Given the description of an element on the screen output the (x, y) to click on. 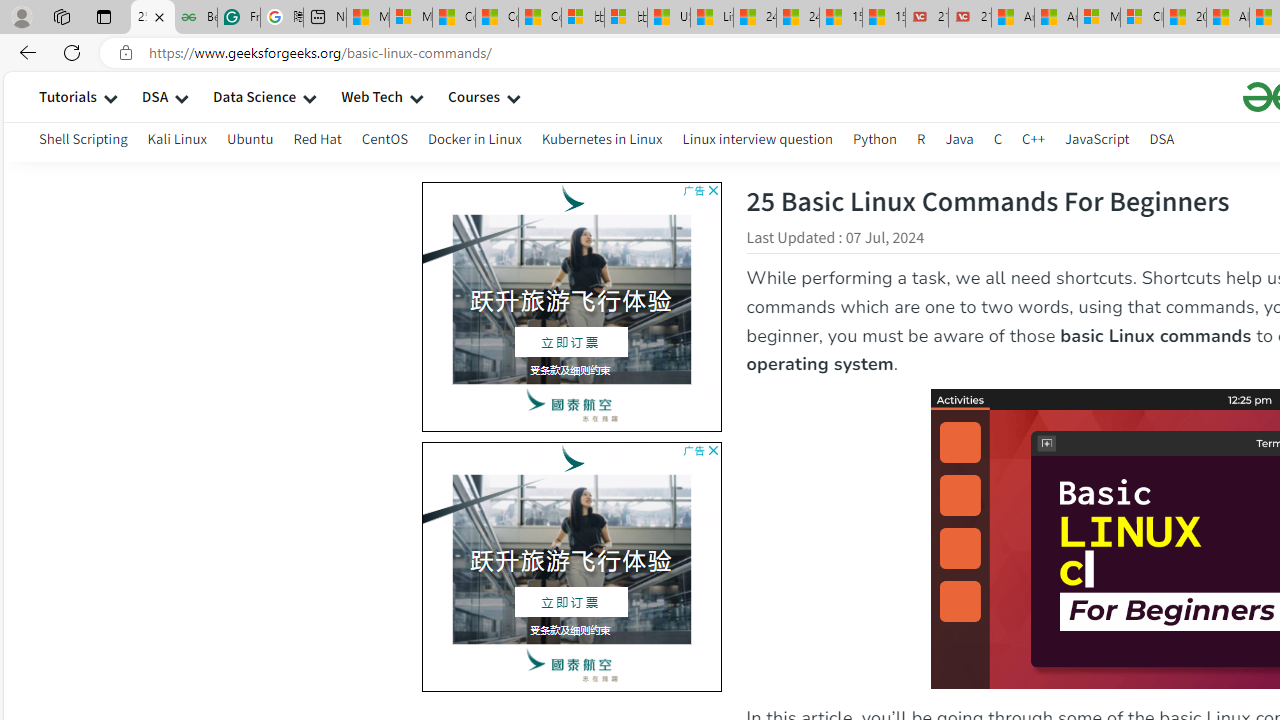
Java (959, 142)
R (921, 138)
CentOS (384, 142)
AutomationID: wheel (417, 440)
Kali Linux (176, 138)
C (997, 142)
Python (874, 138)
DSA (1162, 138)
Linux interview question (757, 138)
C++ (1034, 142)
